Given the description of an element on the screen output the (x, y) to click on. 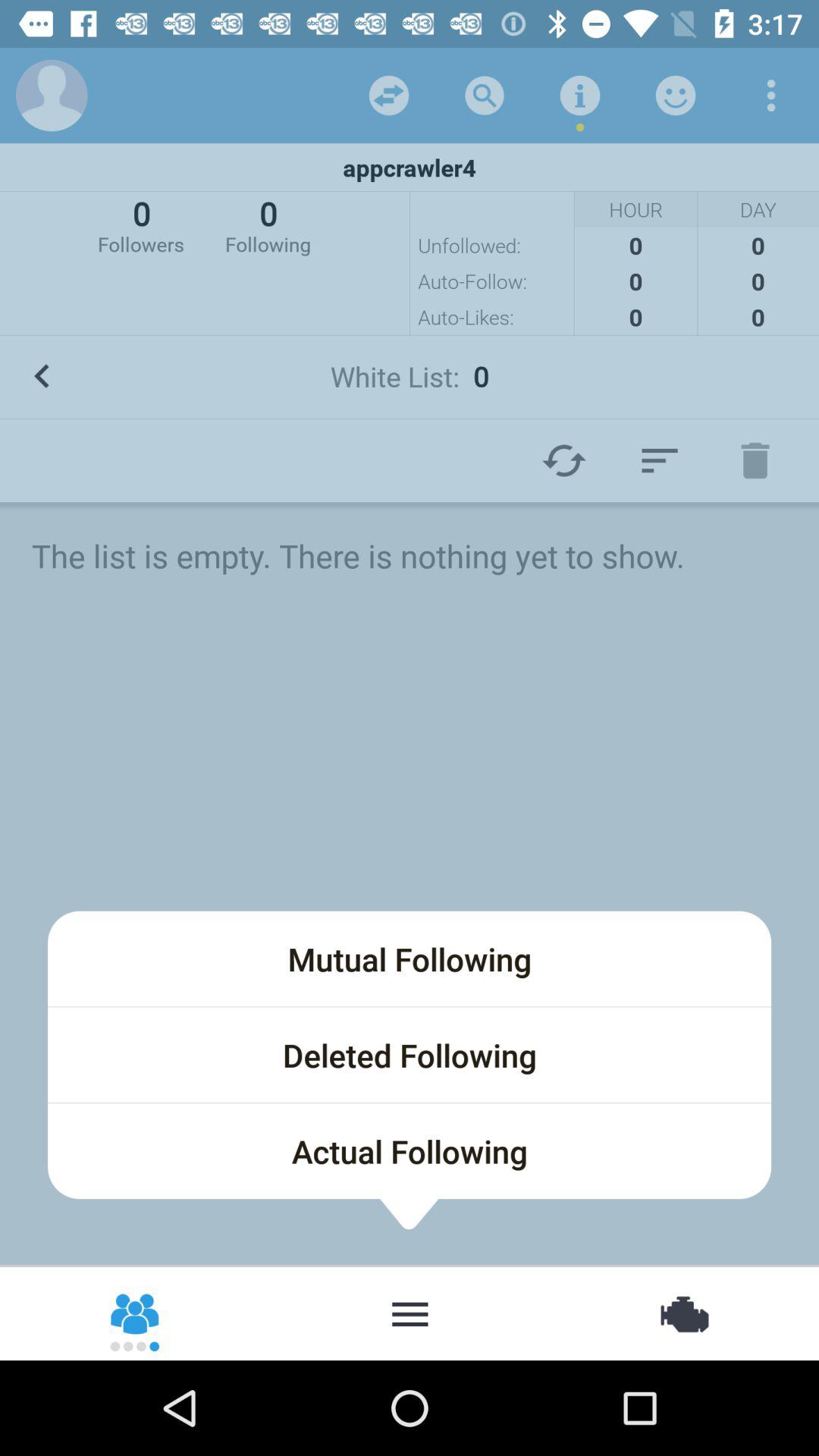
open the item below the list is icon (409, 958)
